Given the description of an element on the screen output the (x, y) to click on. 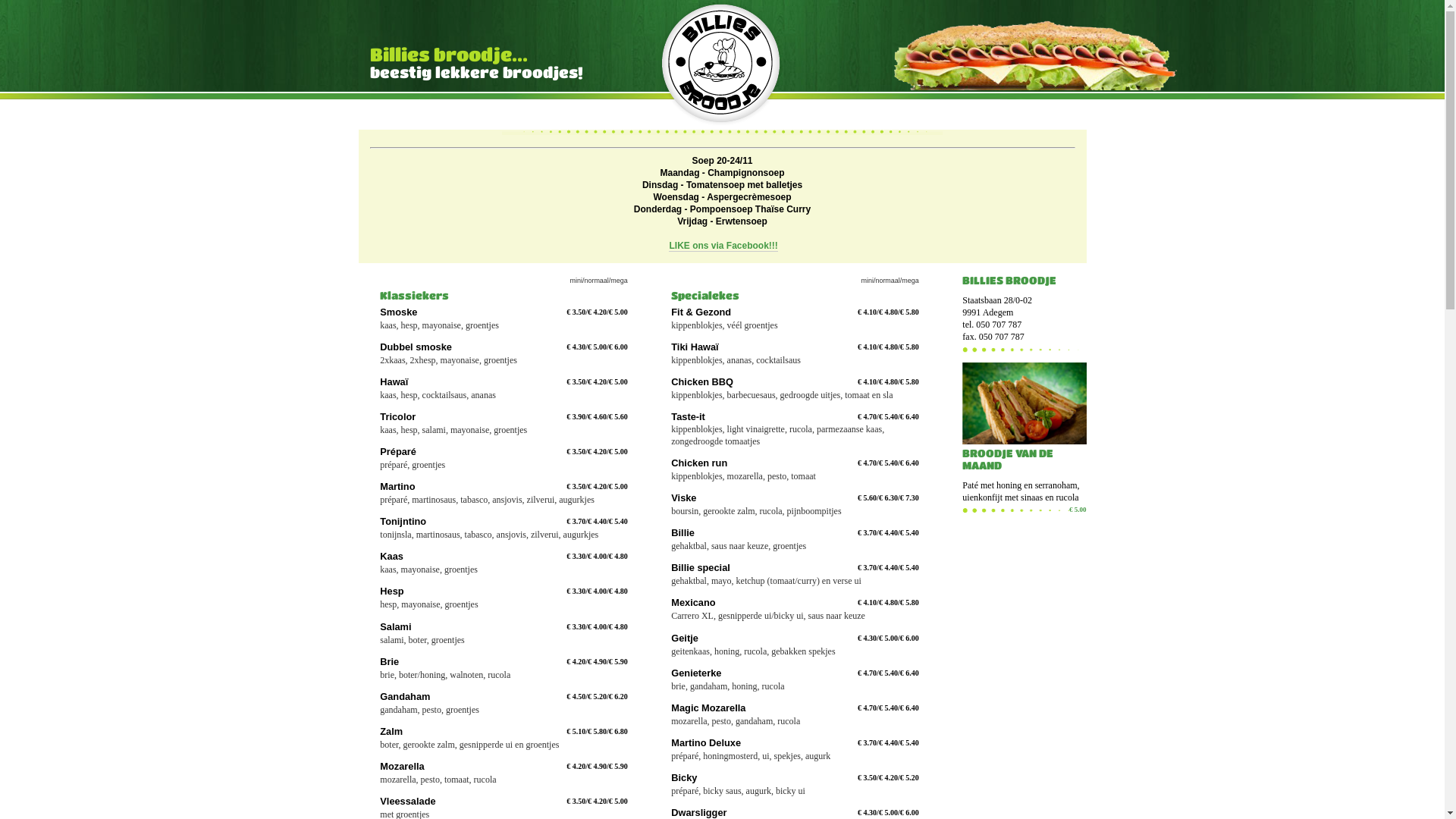
Billies broodje - Beestig lekkere broodjes! Element type: hover (722, 63)
LIKE ons via Facebook!!! Element type: text (722, 245)
